Given the description of an element on the screen output the (x, y) to click on. 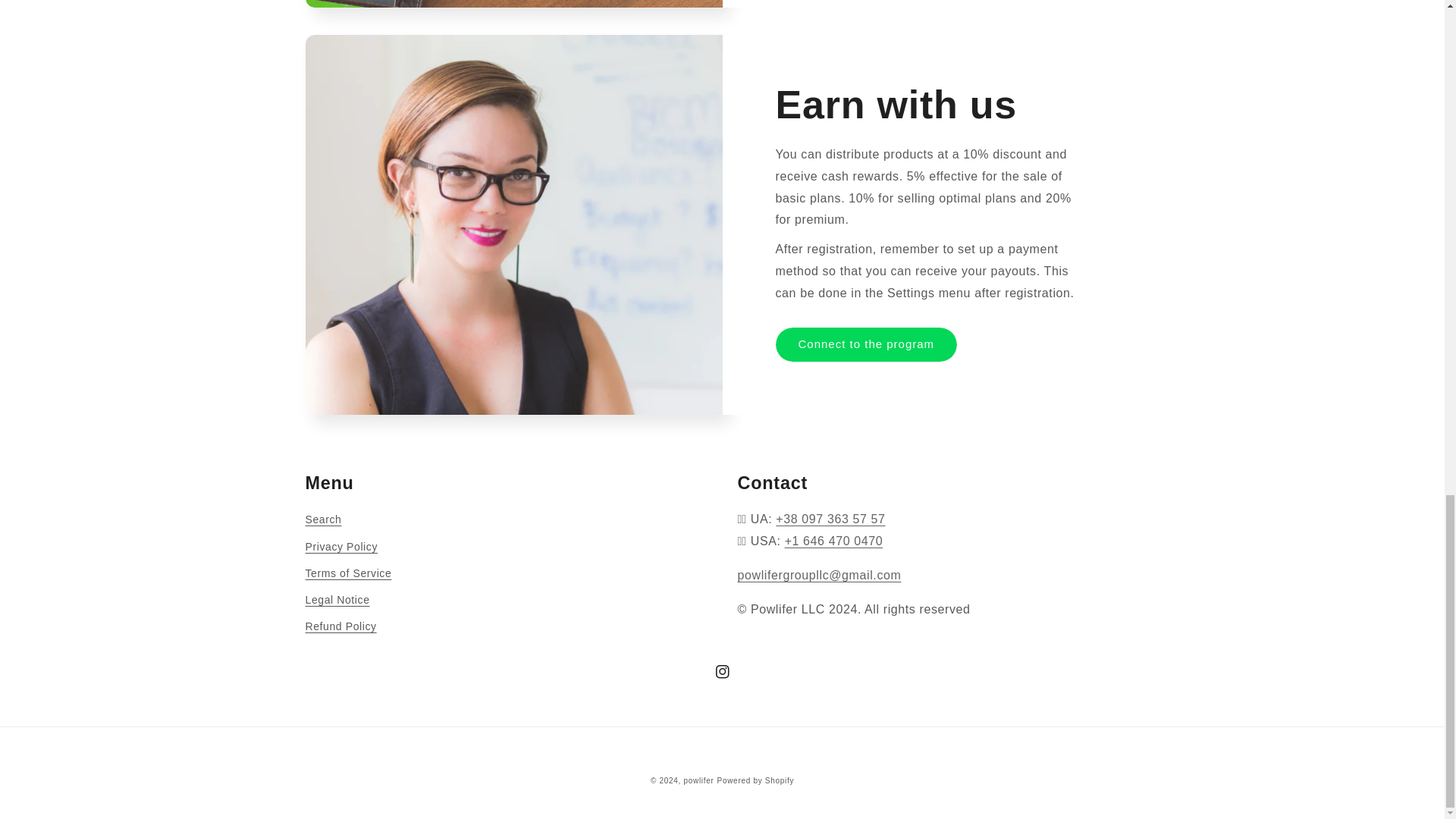
Connect to the program (865, 344)
Privacy Policy (340, 546)
Search (322, 521)
